Given the description of an element on the screen output the (x, y) to click on. 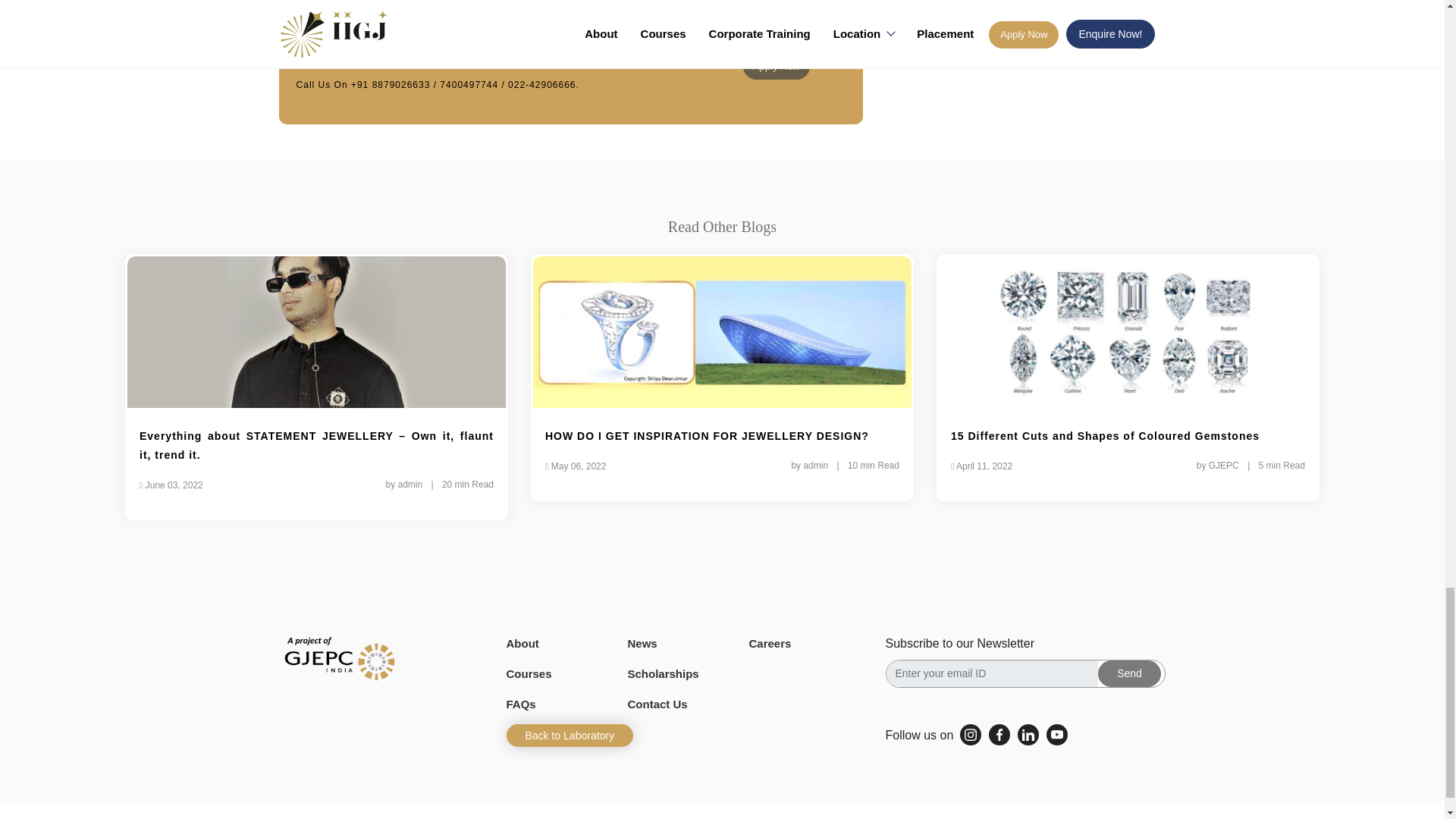
Courses (528, 673)
Apply Now (775, 66)
Send (1128, 673)
Careers (770, 643)
About (522, 643)
Scholarships (662, 673)
Back to Laboratory (569, 734)
News (642, 643)
FAQs (520, 703)
Send (1128, 673)
GJEPC (339, 658)
Contact Us (657, 703)
